Given the description of an element on the screen output the (x, y) to click on. 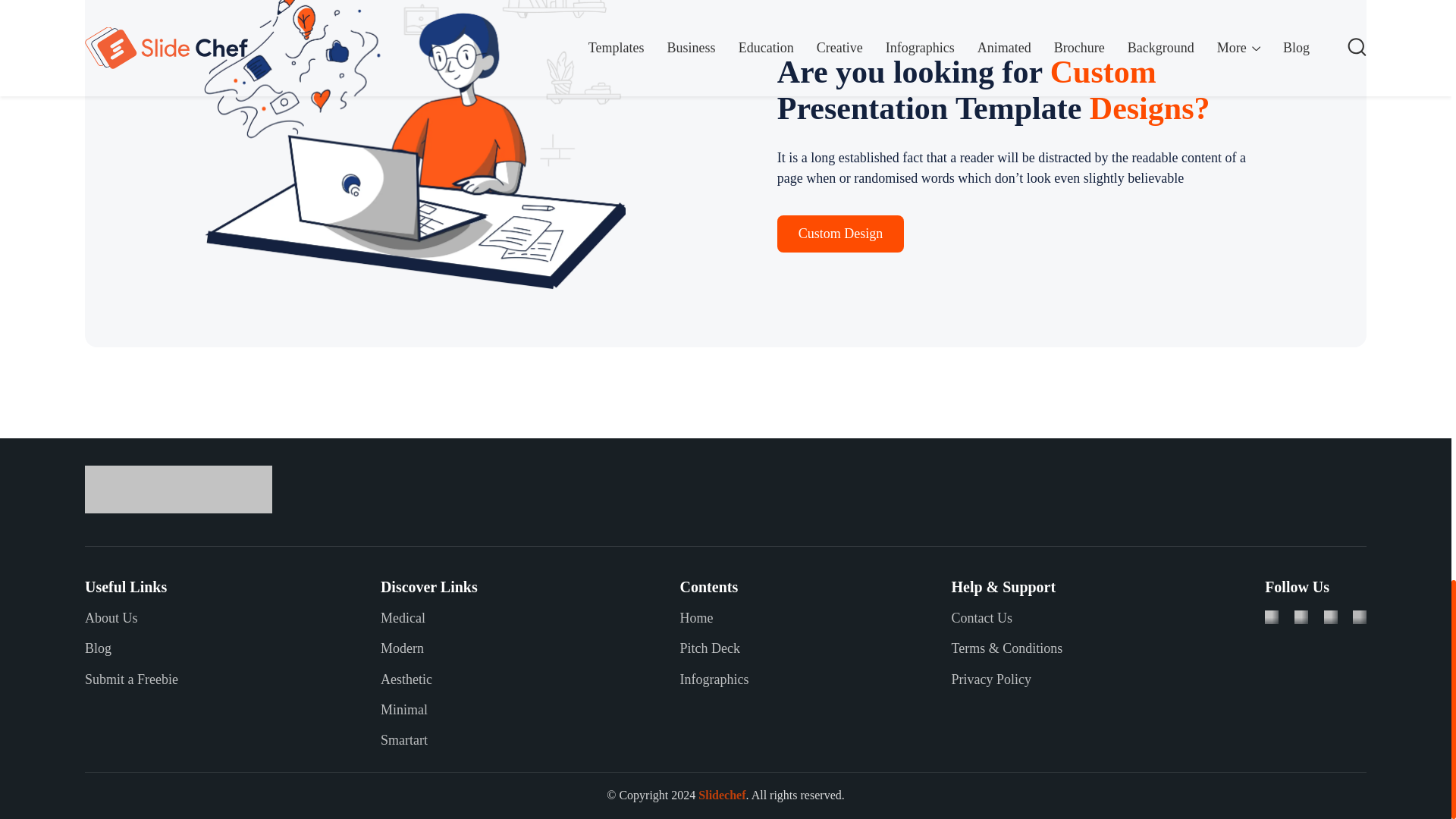
Instagram (1329, 616)
SlideChef (178, 489)
Facebook (1271, 616)
Pinterest (1360, 616)
